Given the description of an element on the screen output the (x, y) to click on. 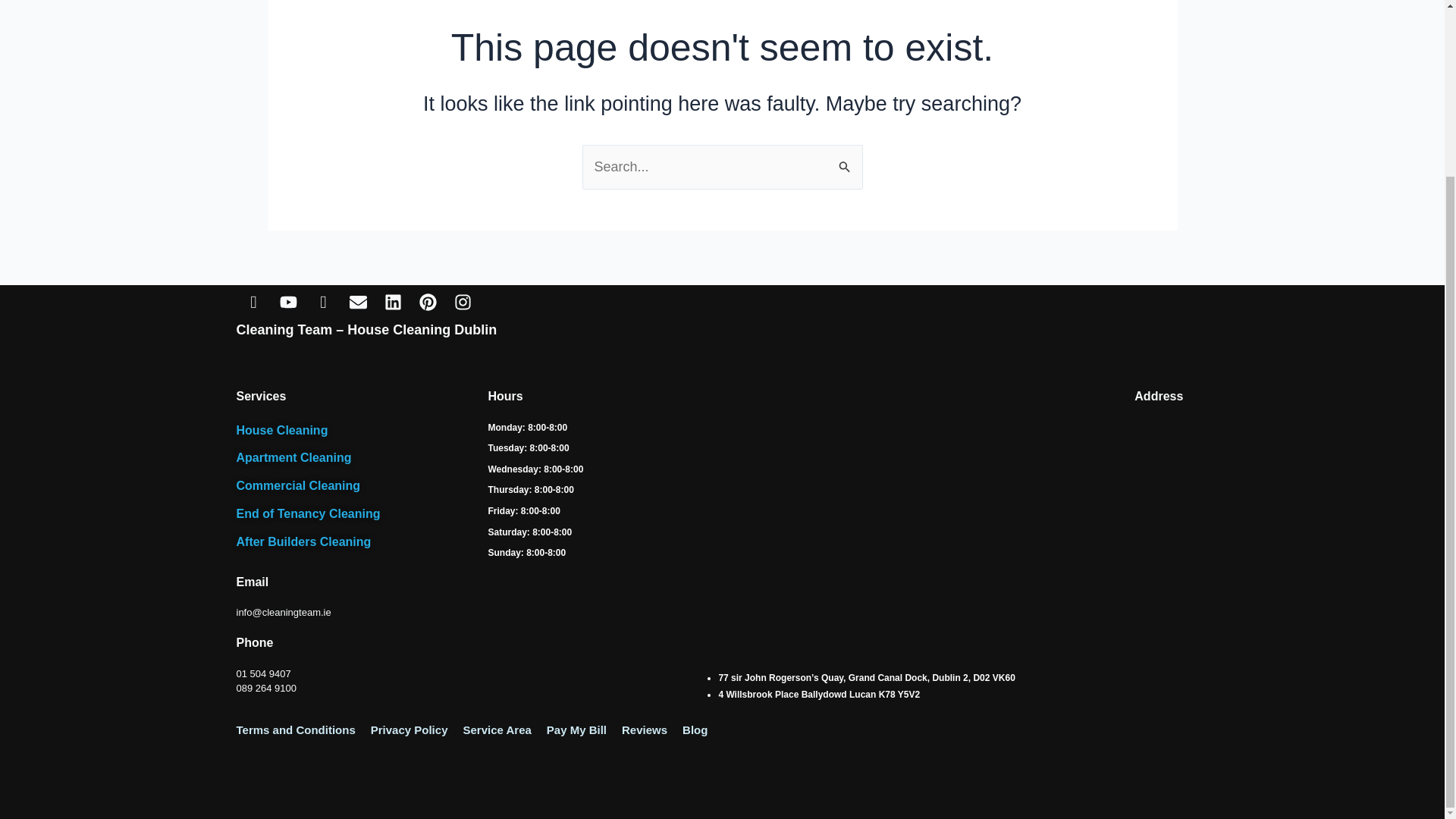
Search (844, 160)
Search (844, 160)
